Given the description of an element on the screen output the (x, y) to click on. 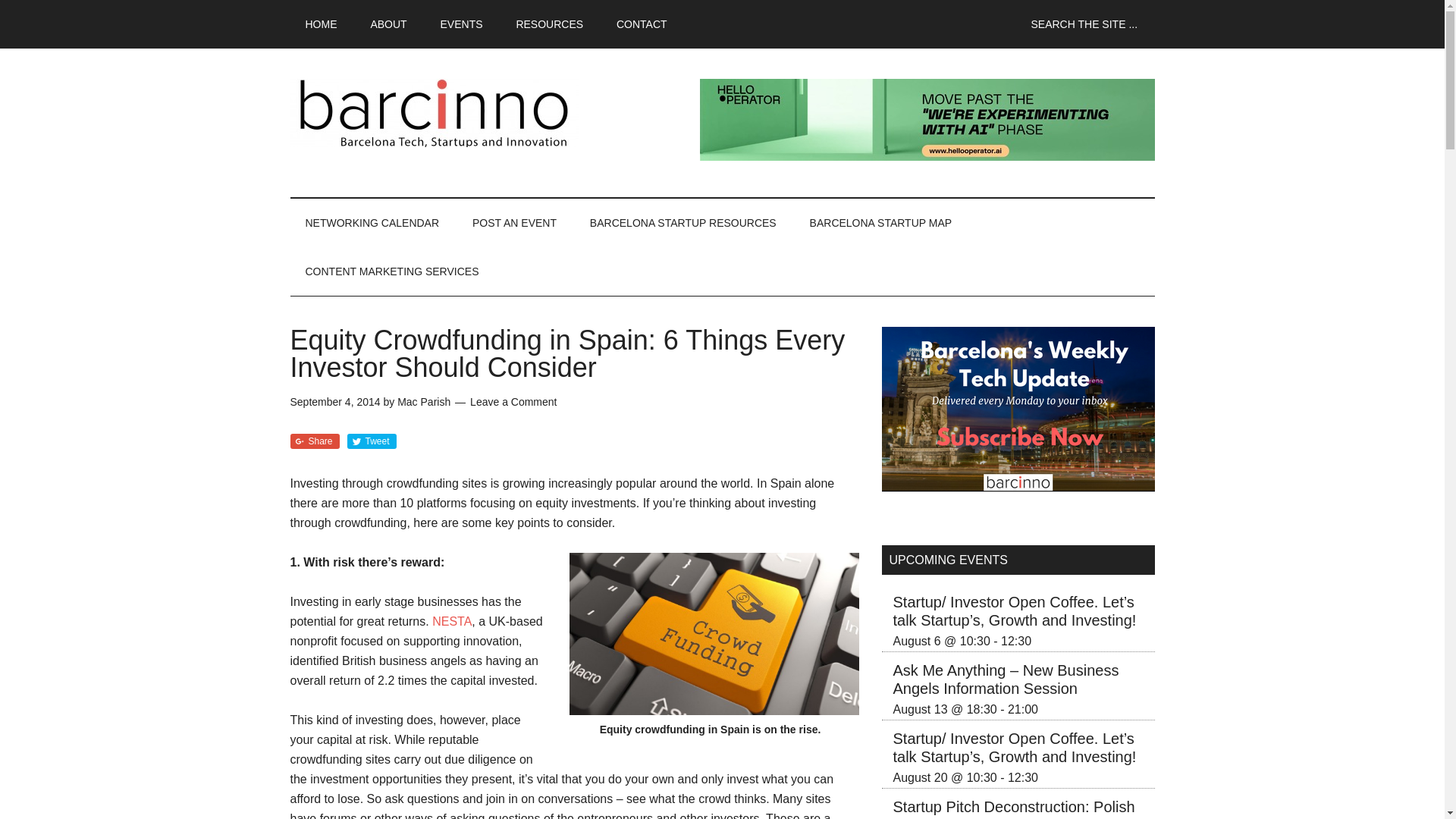
RESOURCES (549, 24)
Barcinno (433, 112)
BARCELONA STARTUP RESOURCES (683, 223)
ABOUT (388, 24)
Mac Parish (423, 401)
POST AN EVENT (514, 223)
Leave a Comment (513, 401)
NETWORKING CALENDAR (371, 223)
CONTACT (641, 24)
NESTA (451, 621)
BARCELONA STARTUP MAP (881, 223)
Share (314, 441)
CONTENT MARKETING SERVICES (391, 271)
